Given the description of an element on the screen output the (x, y) to click on. 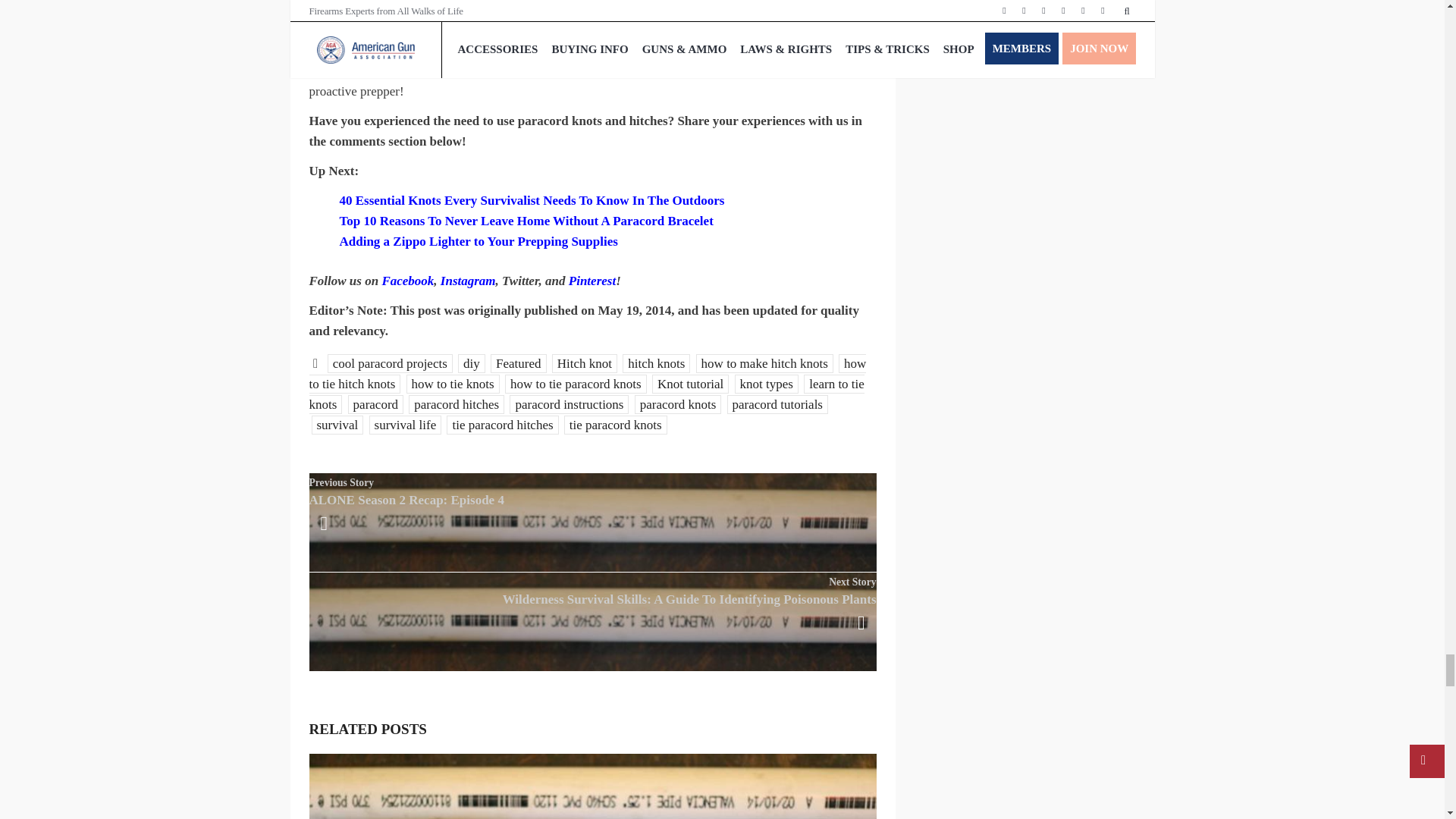
Adding a Zippo Lighter to Your Prepping Supplies (478, 241)
during emergencies (573, 70)
